Given the description of an element on the screen output the (x, y) to click on. 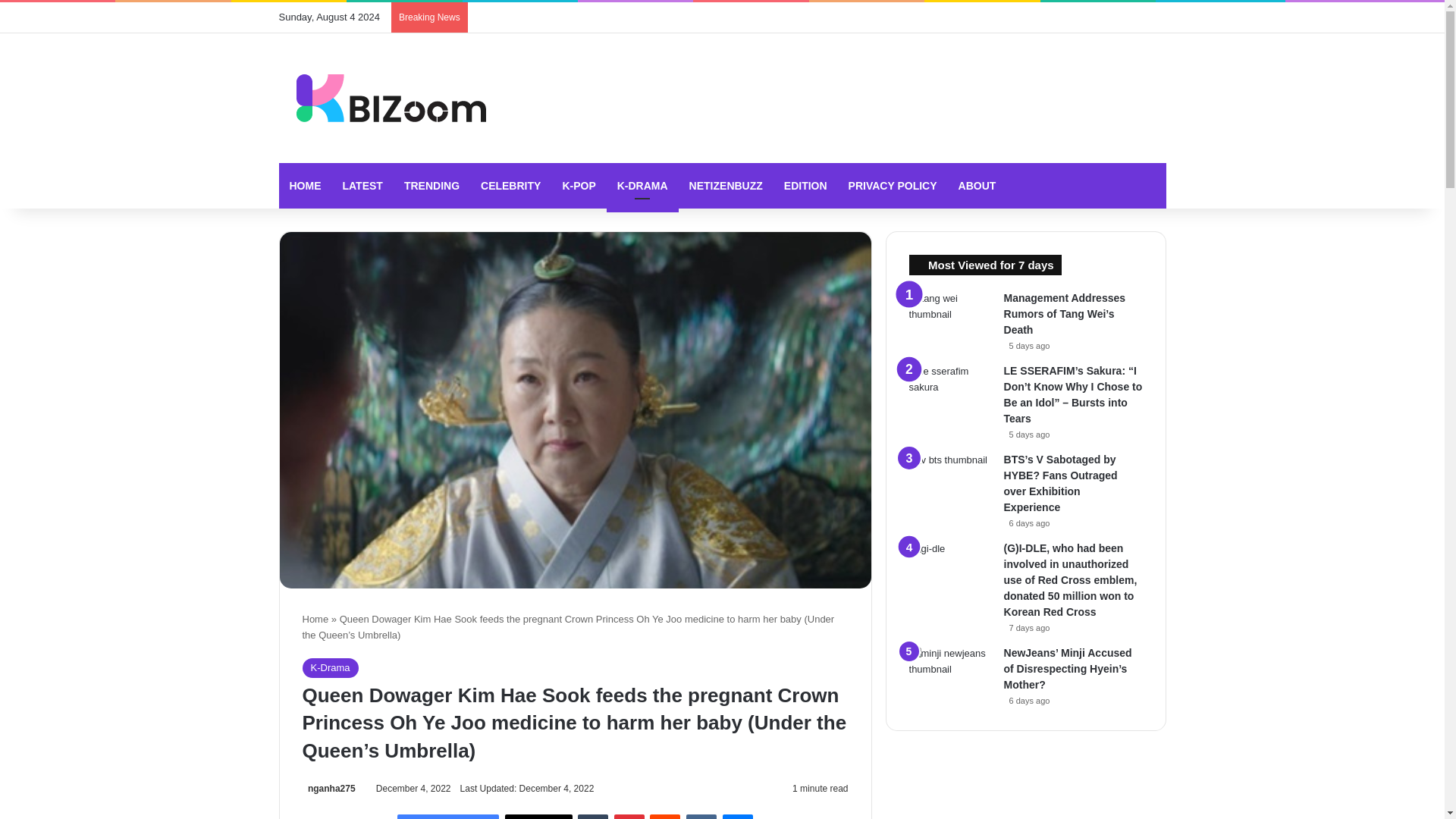
K-POP (578, 185)
Pinterest (629, 816)
ABOUT (977, 185)
KBIZoom (382, 97)
Tumblr (593, 816)
K-DRAMA (642, 185)
nganha275 (328, 787)
Reddit (664, 816)
VKontakte (700, 816)
K-Drama (329, 668)
X (538, 816)
LATEST (362, 185)
NETIZENBUZZ (725, 185)
Messenger (737, 816)
Facebook (448, 816)
